Given the description of an element on the screen output the (x, y) to click on. 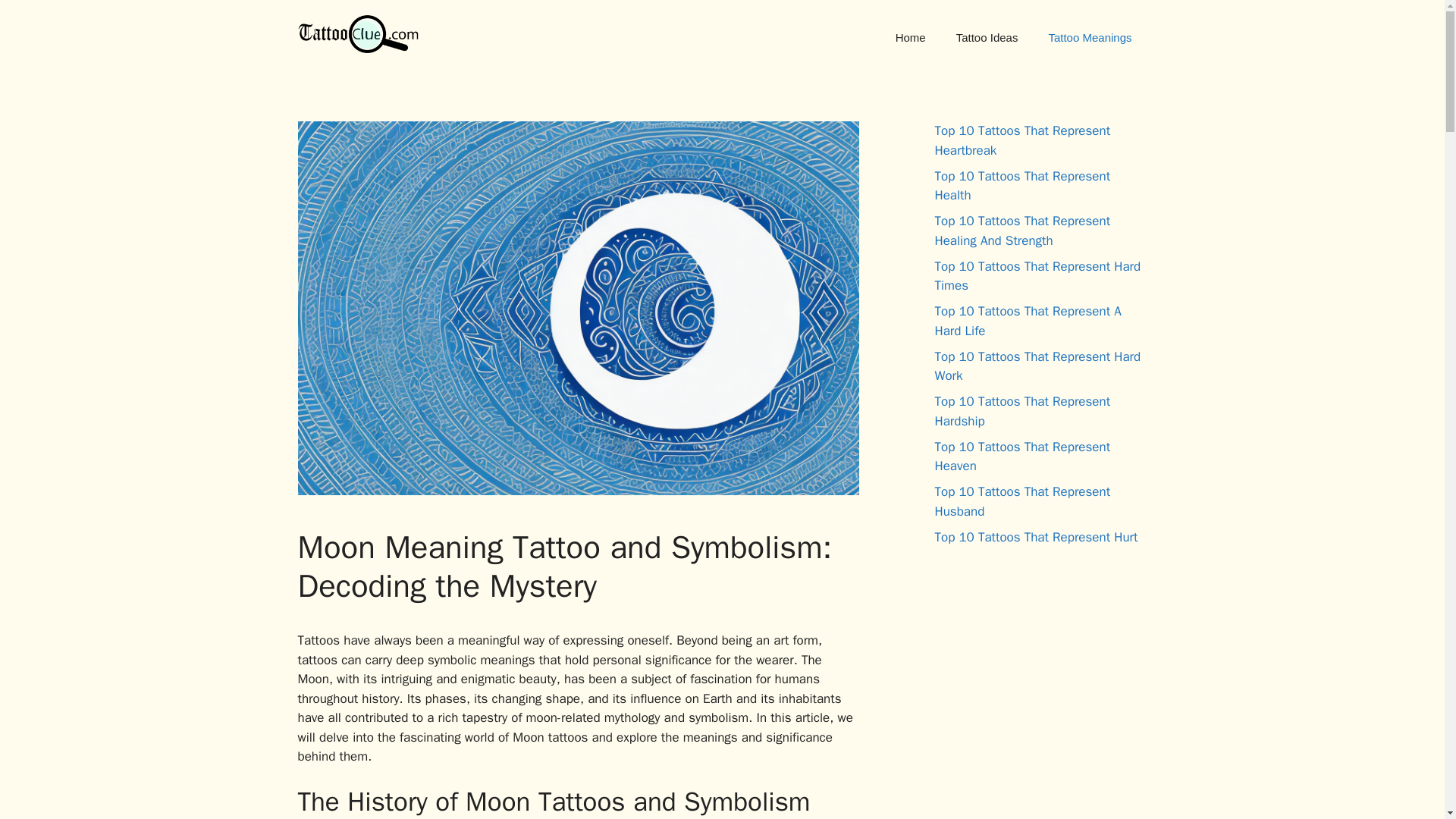
Top 10 Tattoos That Represent A Hard Life (1027, 321)
Top 10 Tattoos That Represent Healing And Strength (1021, 230)
Top 10 Tattoos That Represent Heaven (1021, 456)
Top 10 Tattoos That Represent Hard Times (1037, 275)
Top 10 Tattoos That Represent Hurt (1035, 537)
Top 10 Tattoos That Represent Hard Work (1037, 366)
Top 10 Tattoos That Represent Heartbreak (1021, 140)
Home (910, 37)
Tattoo Ideas (986, 37)
Top 10 Tattoos That Represent Health (1021, 185)
Top 10 Tattoos That Represent Husband (1021, 501)
Top 10 Tattoos That Represent Hardship (1021, 411)
Tattoo Meanings (1089, 37)
